Given the description of an element on the screen output the (x, y) to click on. 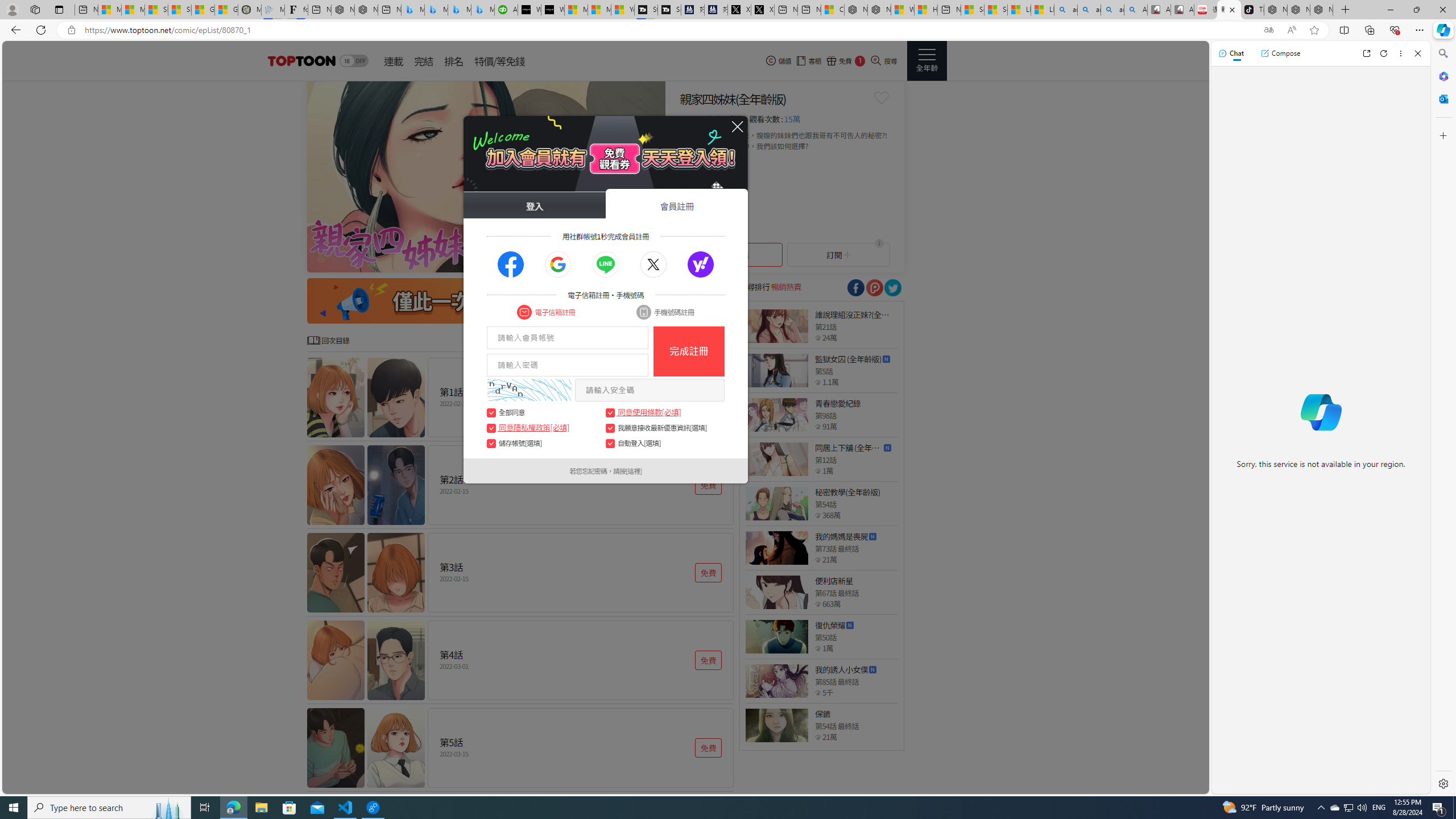
Microsoft 365 (1442, 76)
Microsoft Bing Travel - Shangri-La Hotel Bangkok (482, 9)
Class: epicon_starpoint (818, 736)
Nordace Siena Pro 15 Backpack (1298, 9)
Manatee Mortality Statistics | FWC (249, 9)
